Given the description of an element on the screen output the (x, y) to click on. 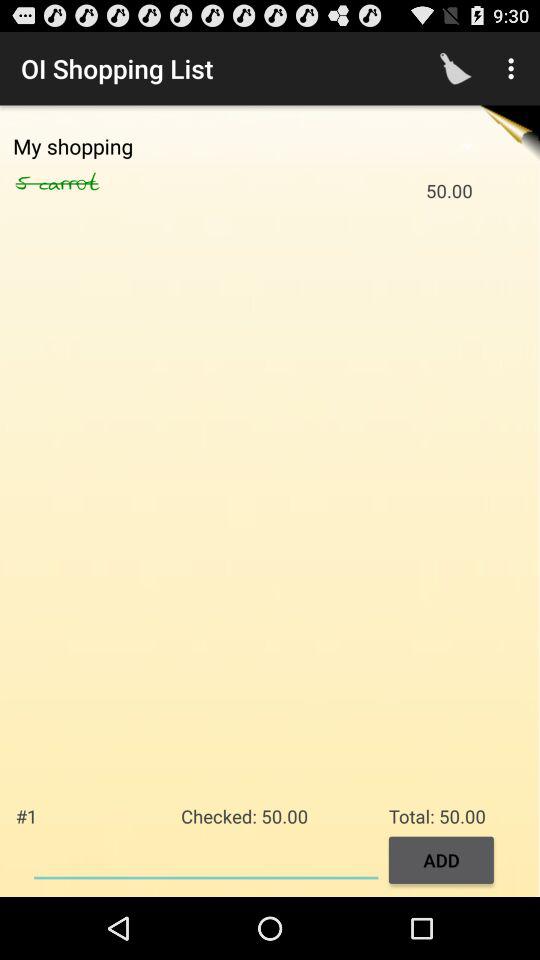
open the item below #1 app (205, 858)
